Given the description of an element on the screen output the (x, y) to click on. 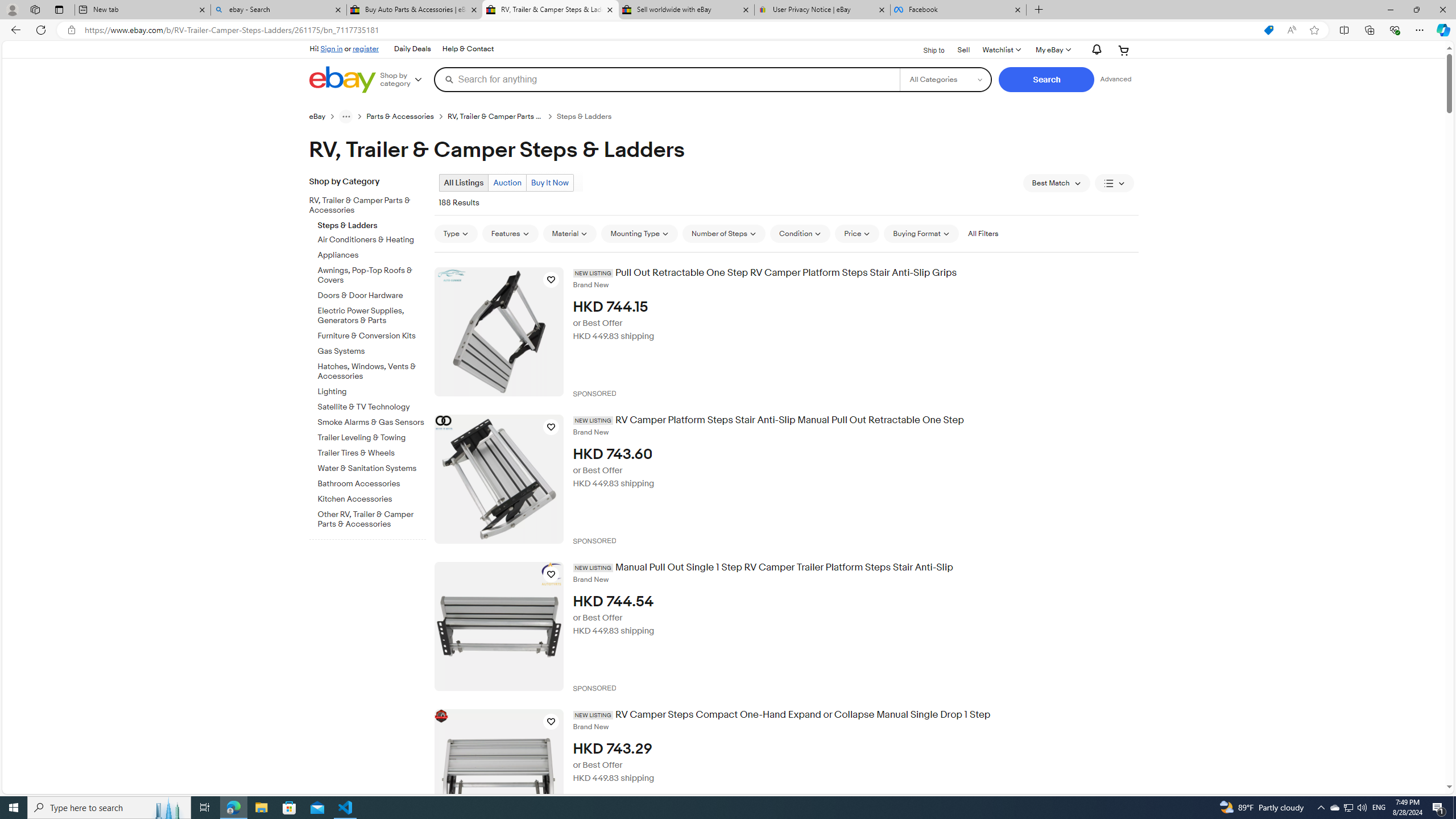
App bar (728, 29)
Material (569, 233)
Price (856, 233)
Steps & Ladders (371, 223)
Daily Deals (411, 49)
Workspaces (34, 9)
New tab (142, 9)
Sort: Best Match (1056, 182)
breadcrumb menu (346, 116)
Sell worldwide with eBay (685, 9)
Electric Power Supplies, Generators & Parts (371, 313)
Satellite & TV Technology (371, 407)
Parts & Accessories (407, 116)
Watchlist (1000, 49)
Copilot (Ctrl+Shift+.) (1442, 29)
